Given the description of an element on the screen output the (x, y) to click on. 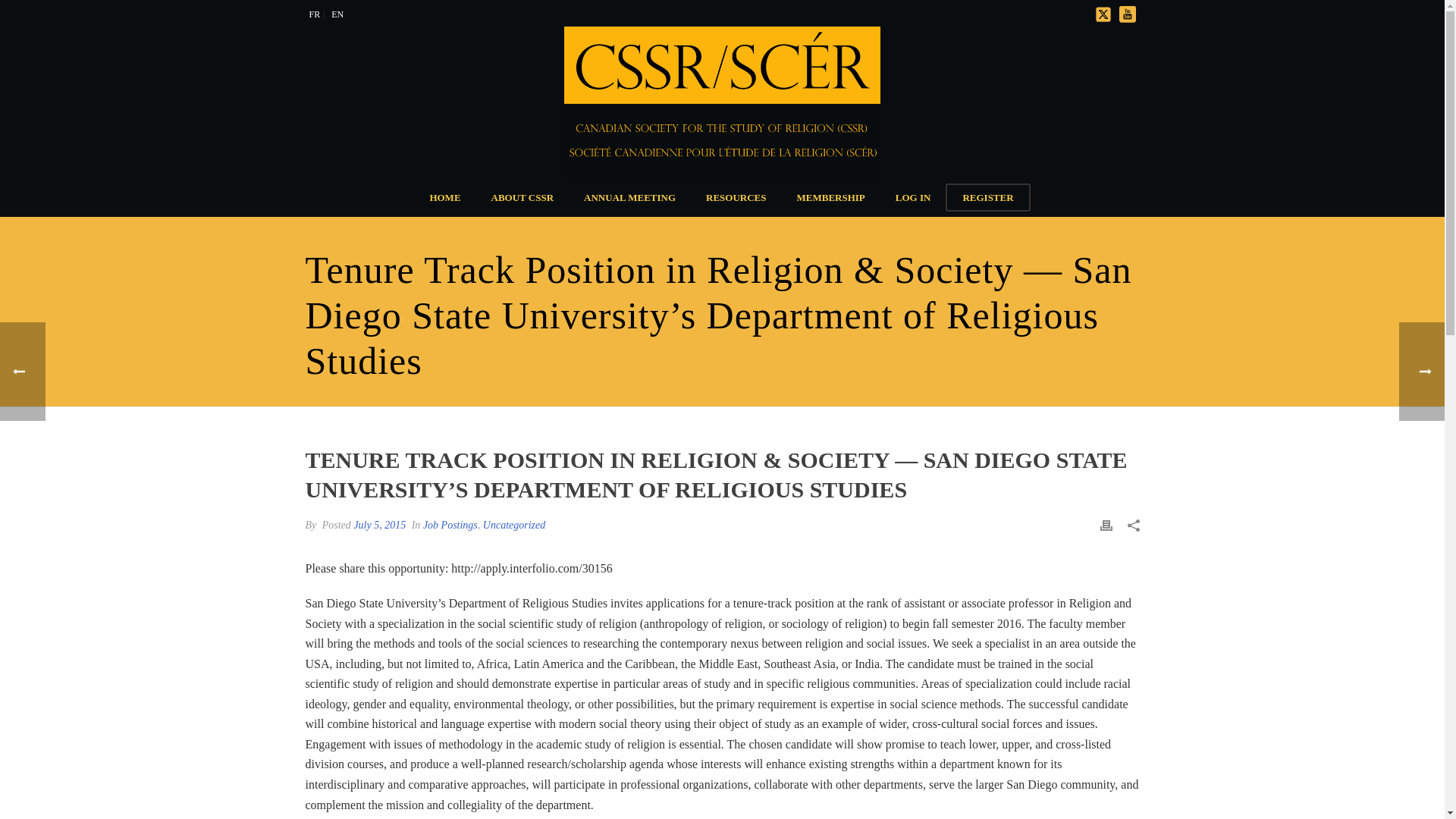
RESOURCES (735, 197)
MEMBERSHIP (830, 197)
HOME (444, 197)
HOME (444, 197)
FR (314, 14)
REGISTER (986, 197)
CSSRSCER (721, 102)
ANNUAL MEETING (629, 197)
EN (337, 14)
RESOURCES (735, 197)
ABOUT CSSR (522, 197)
ABOUT CSSR (522, 197)
ANNUAL MEETING (629, 197)
LOG IN (913, 197)
